Given the description of an element on the screen output the (x, y) to click on. 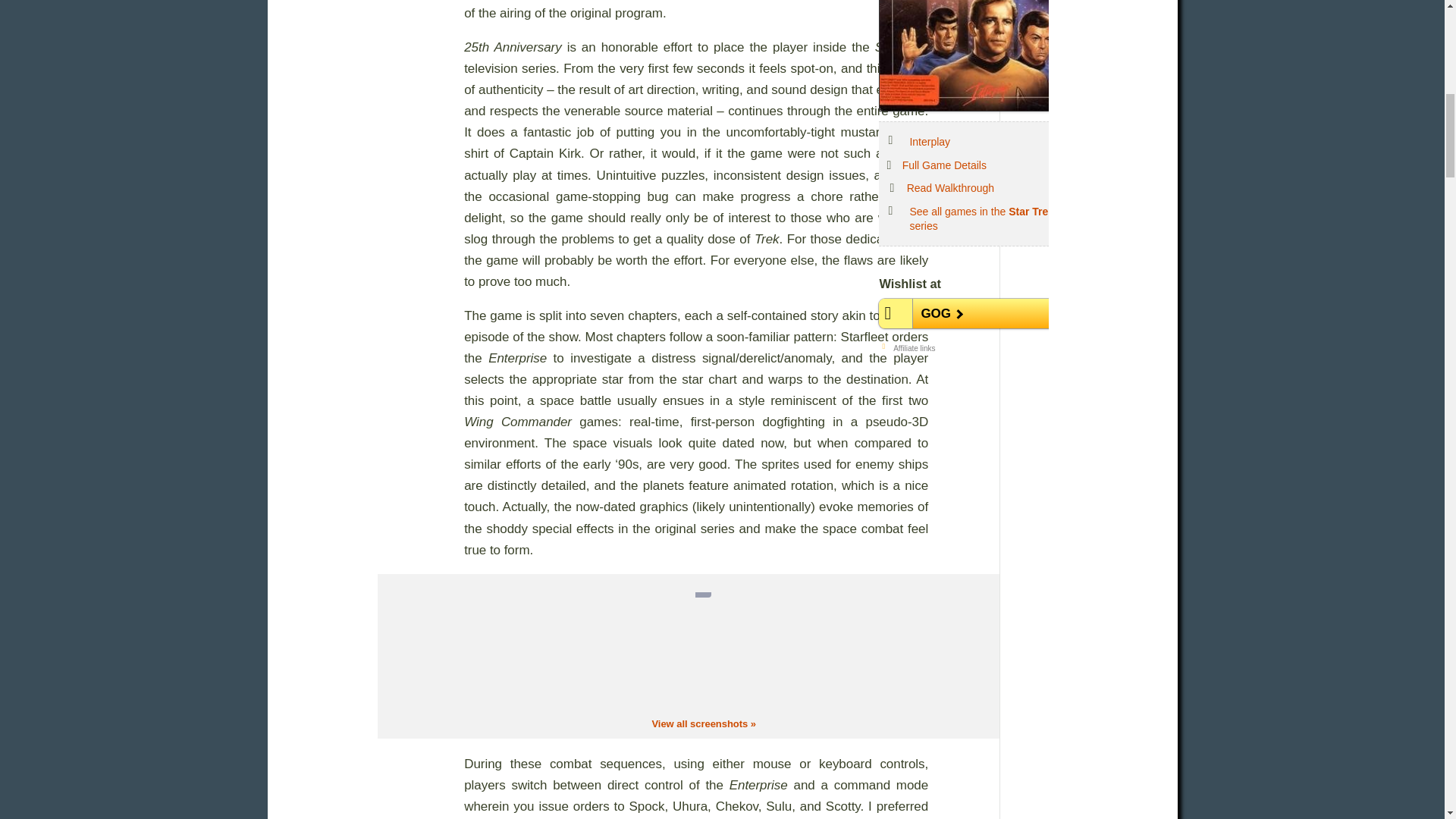
Star Trek: 25th Anniversary Box Cover (986, 55)
